Given the description of an element on the screen output the (x, y) to click on. 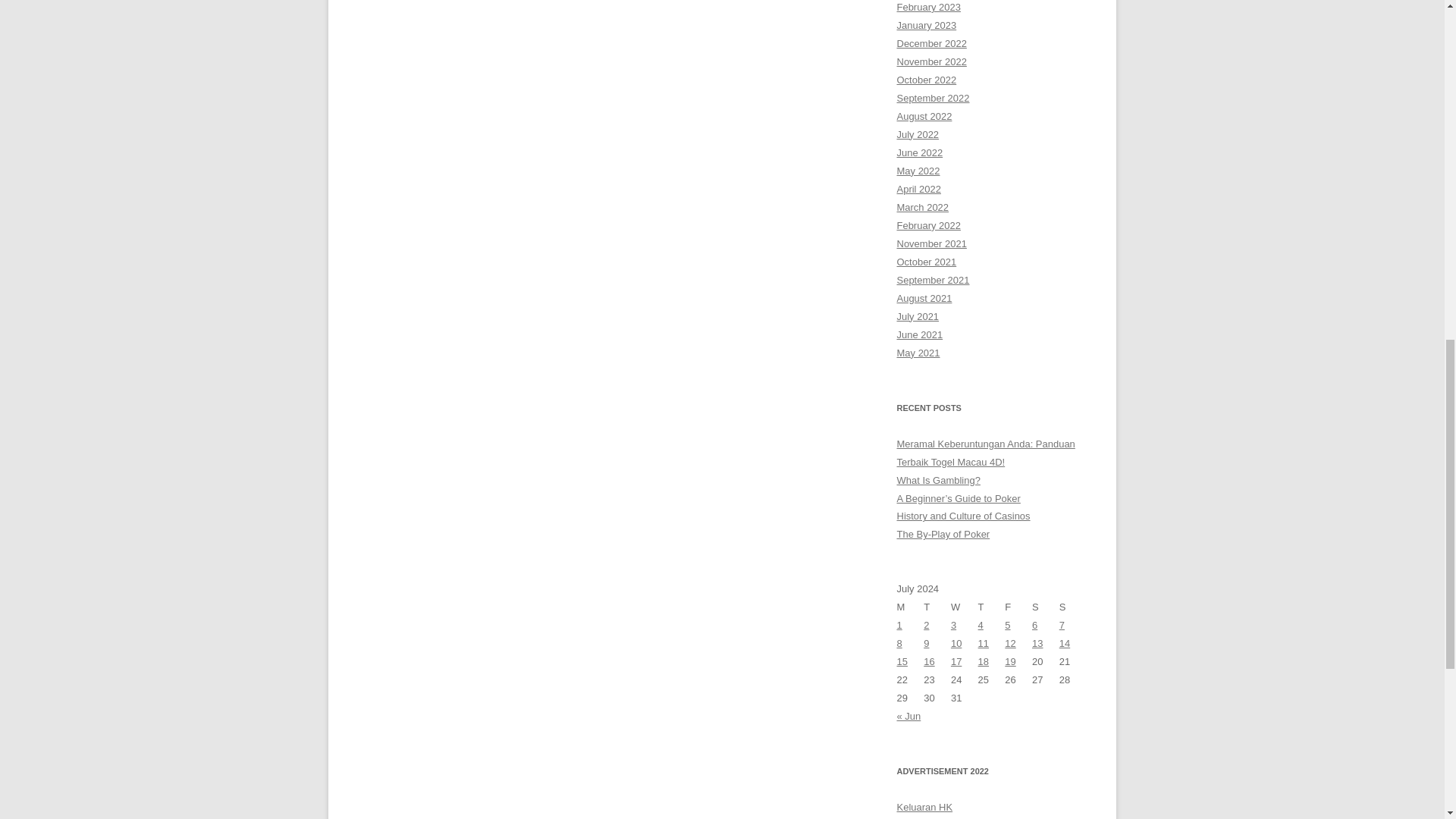
February 2023 (927, 7)
Saturday (1045, 607)
Tuesday (936, 607)
January 2023 (926, 25)
Thursday (992, 607)
August 2022 (924, 116)
Monday (909, 607)
Friday (1018, 607)
November 2022 (931, 61)
December 2022 (931, 43)
October 2022 (926, 79)
Sunday (1072, 607)
September 2022 (932, 98)
Wednesday (964, 607)
